Given the description of an element on the screen output the (x, y) to click on. 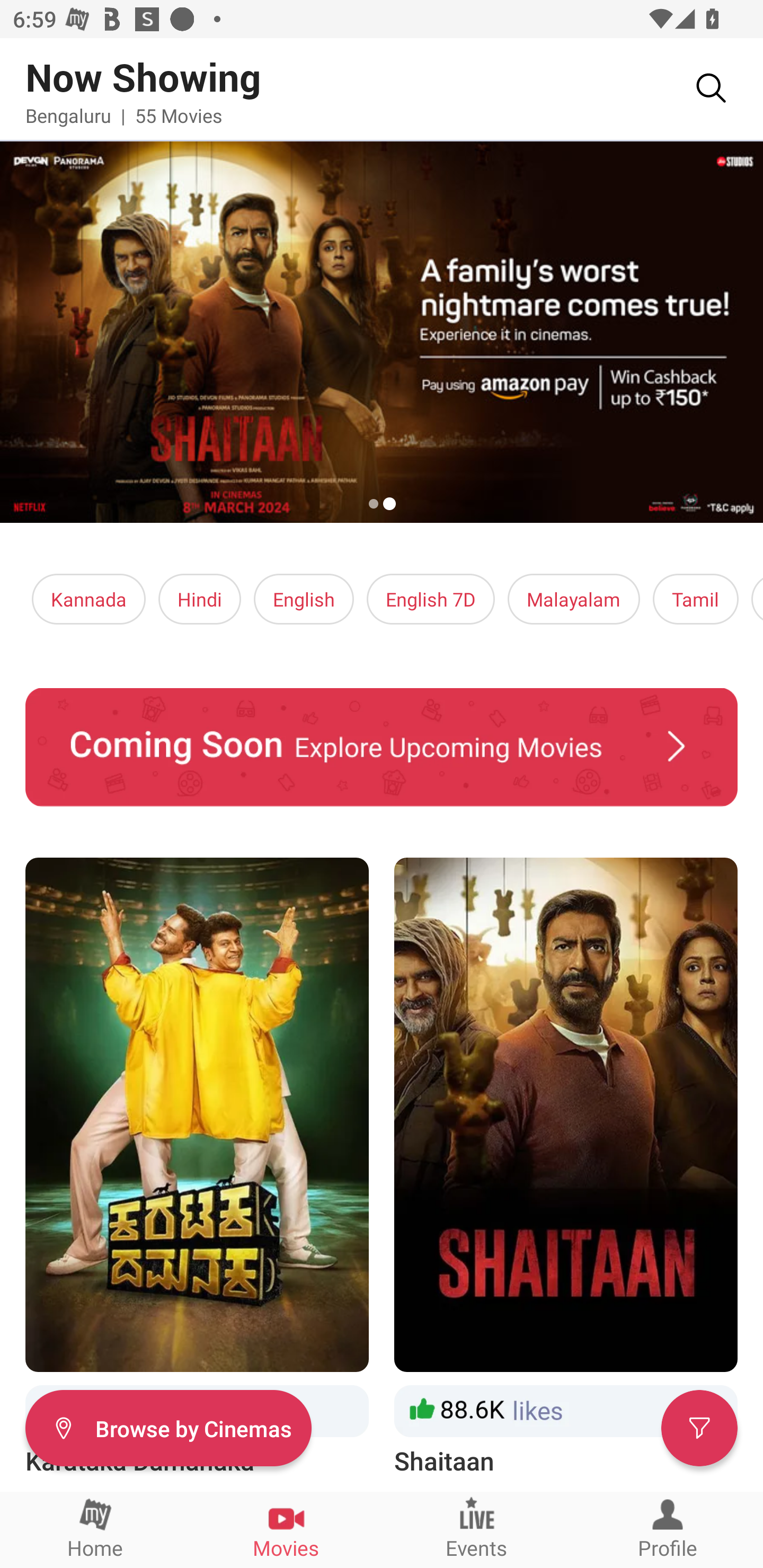
Bengaluru  |  55 Movies (123, 114)
Kannada (88, 598)
Hindi (199, 598)
English (304, 598)
English 7D (431, 598)
Malayalam (573, 598)
Tamil (695, 598)
Karataka Damanaka (196, 1167)
Shaitaan (565, 1167)
Filter Browse by Cinemas (168, 1427)
Filter (699, 1427)
Home (95, 1529)
Movies (285, 1529)
Events (476, 1529)
Profile (667, 1529)
